Given the description of an element on the screen output the (x, y) to click on. 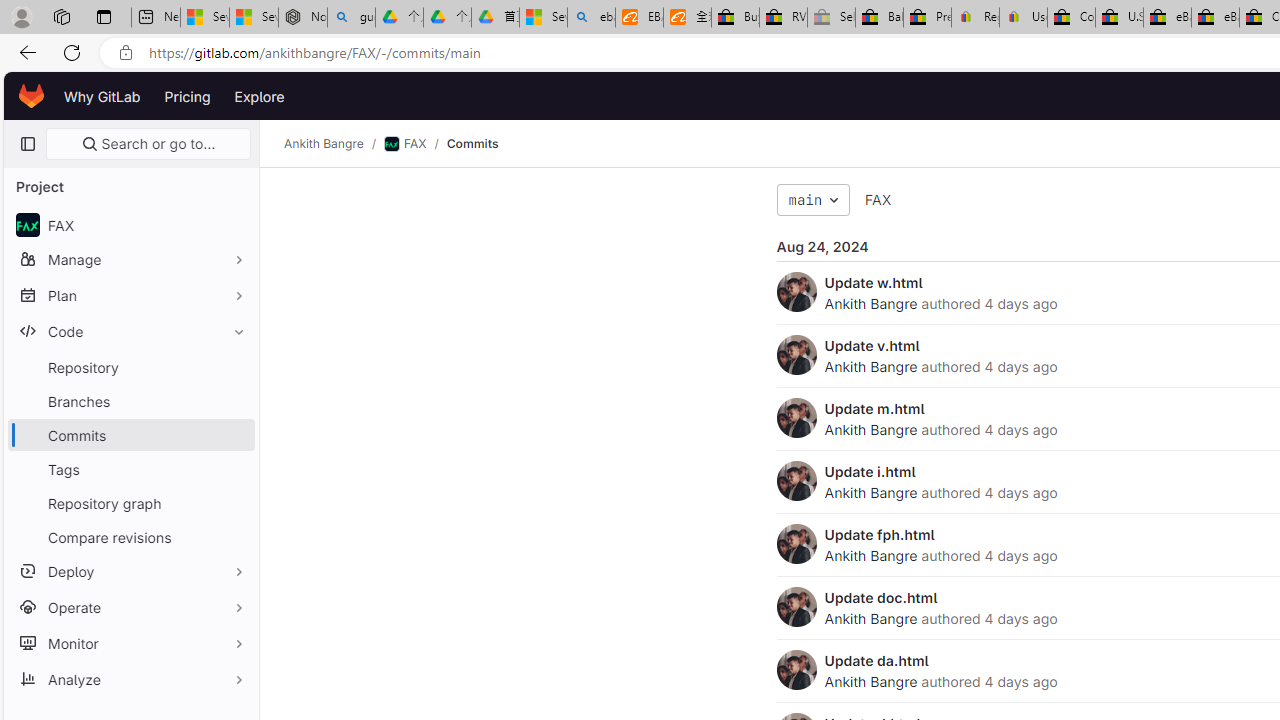
Update i.html (870, 471)
Explore (259, 95)
Repository (130, 367)
Why GitLab (102, 95)
main (813, 200)
Commits (472, 143)
eBay Inc. Reports Third Quarter 2023 Results (1215, 17)
Update m.html (874, 408)
Manage (130, 259)
Press Room - eBay Inc. (927, 17)
U.S. State Privacy Disclosures - eBay Inc. (1119, 17)
Why GitLab (102, 95)
Ankith Bangre's avatar (795, 669)
